Given the description of an element on the screen output the (x, y) to click on. 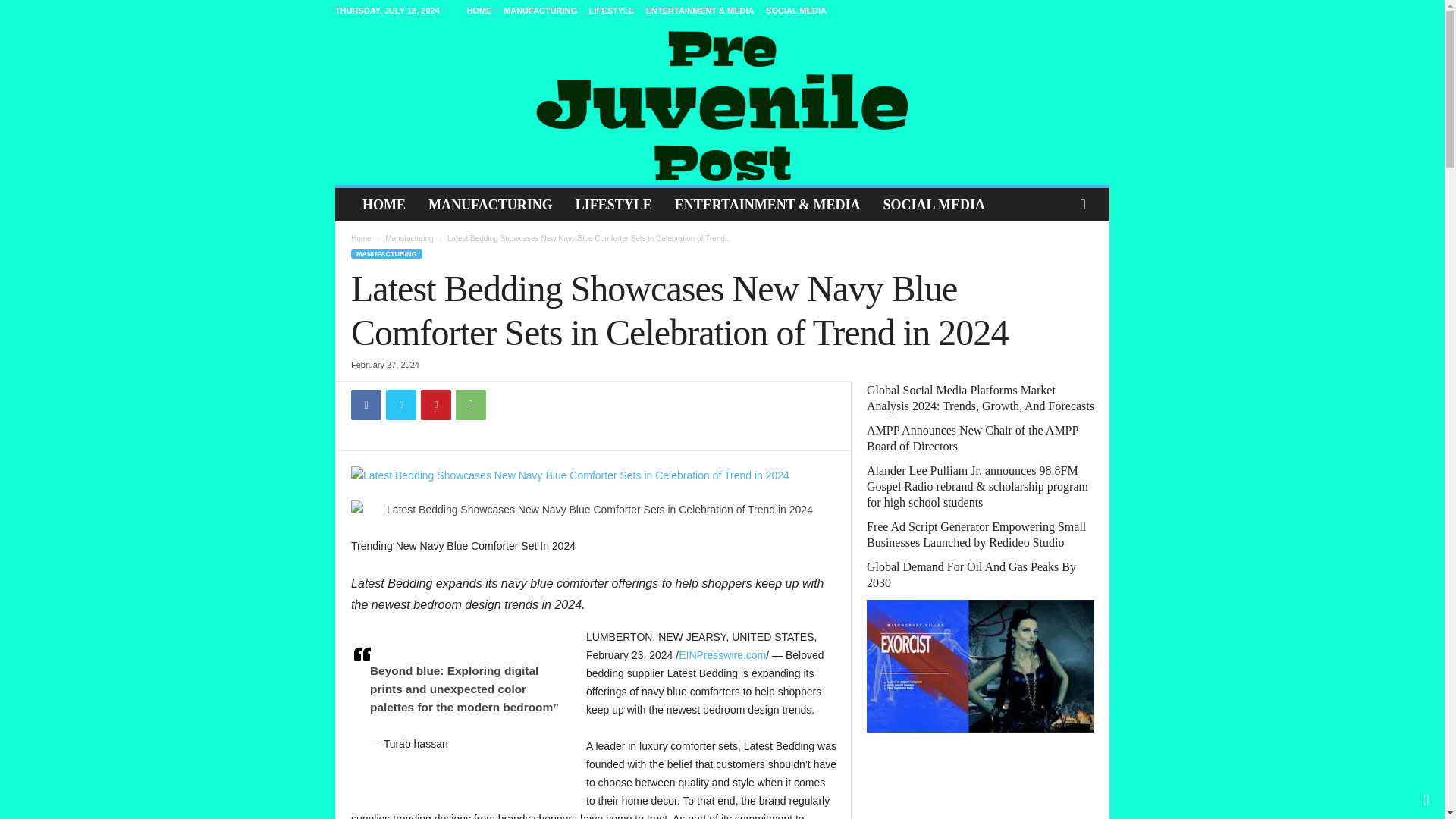
SOCIAL MEDIA (796, 10)
MANUFACTURING (386, 253)
HOME (478, 10)
Twitter (400, 404)
SOCIAL MEDIA (932, 204)
Home (360, 238)
EINPresswire.com (721, 654)
View all posts in Manufacturing (408, 238)
Facebook (365, 404)
LIFESTYLE (611, 10)
HOME (383, 204)
Manufacturing (408, 238)
MANUFACTURING (490, 204)
Pinterest (435, 404)
